Given the description of an element on the screen output the (x, y) to click on. 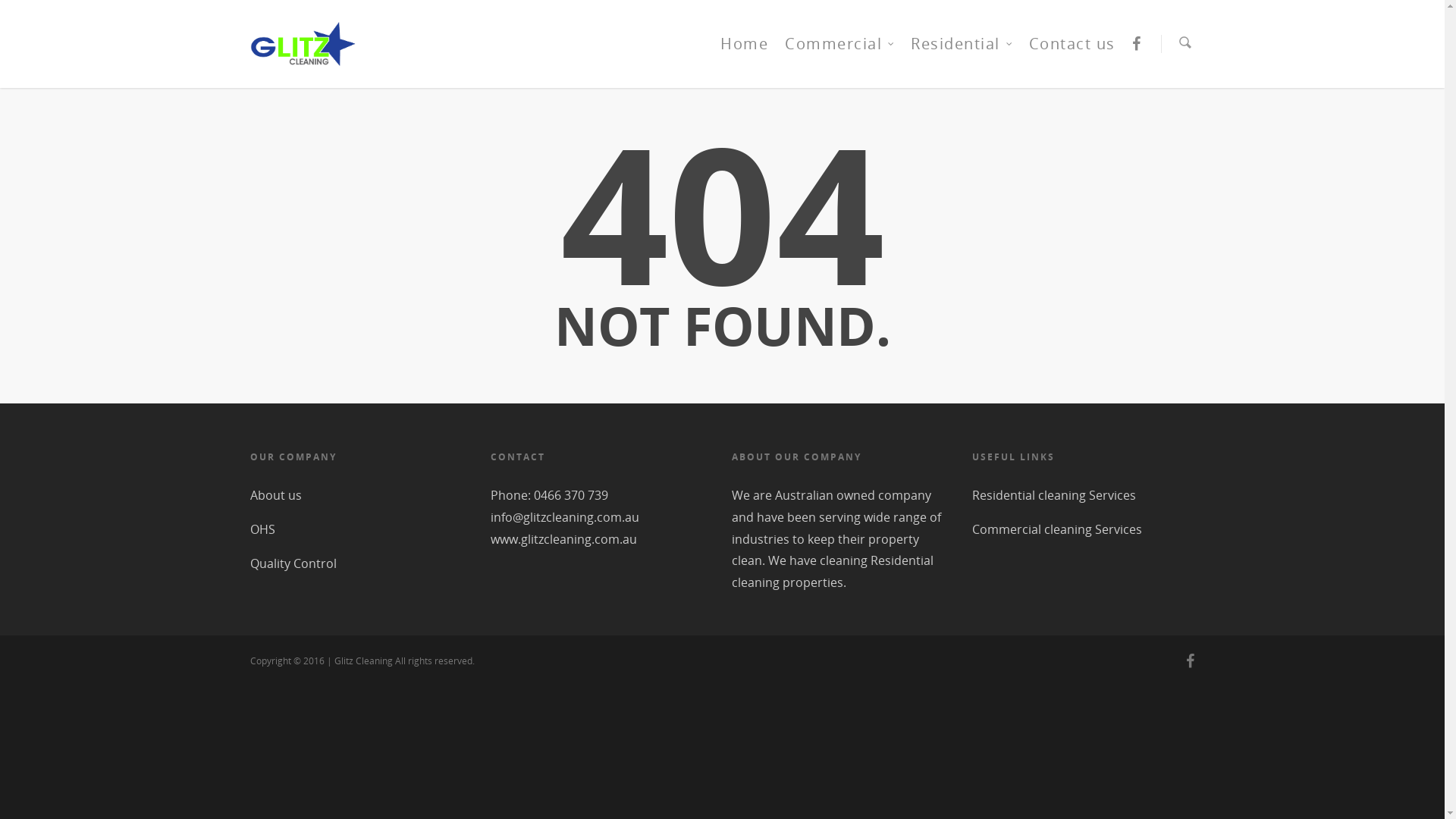
Residential Element type: text (961, 54)
Commercial cleaning Services Element type: text (1083, 529)
About us Element type: text (361, 498)
Commercial Element type: text (839, 54)
Contact us Element type: text (1071, 54)
Home Element type: text (743, 54)
www.glitzcleaning.com.au Element type: text (563, 538)
Residential cleaning Services Element type: text (1083, 498)
info@glitzcleaning.com.au Element type: text (564, 516)
Quality Control Element type: text (361, 563)
OHS Element type: text (361, 529)
0466 370 739 Element type: text (570, 494)
